Given the description of an element on the screen output the (x, y) to click on. 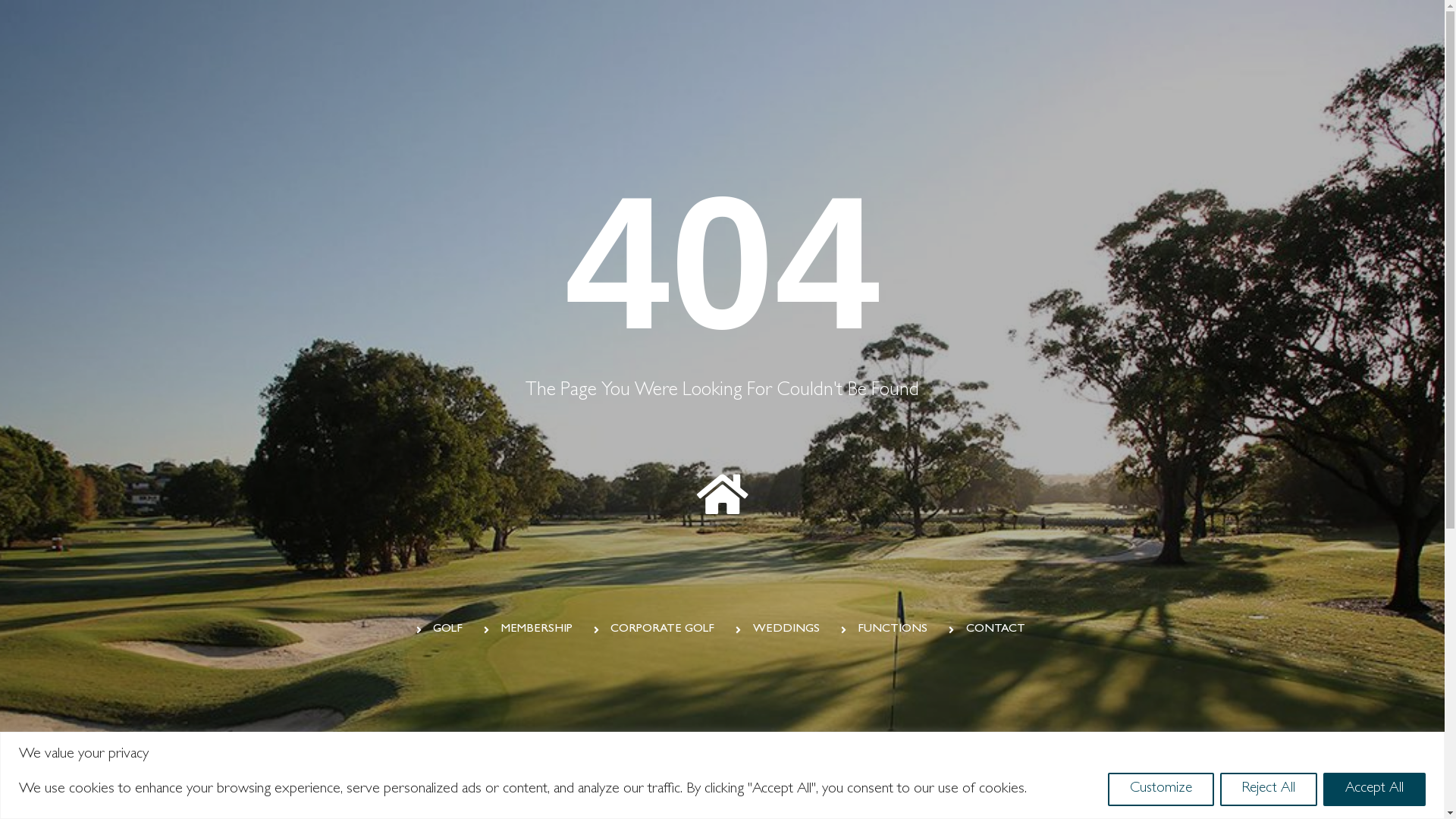
CONTACT Element type: text (988, 629)
CORPORATE GOLF Element type: text (655, 629)
Customize Element type: text (1160, 788)
MEMBERSHIP Element type: text (530, 629)
Reject All Element type: text (1268, 788)
Login Element type: text (1303, 168)
GOLF Element type: text (441, 629)
Accept All Element type: text (1374, 788)
FUNCTIONS Element type: text (886, 629)
WEDDINGS Element type: text (779, 629)
